Given the description of an element on the screen output the (x, y) to click on. 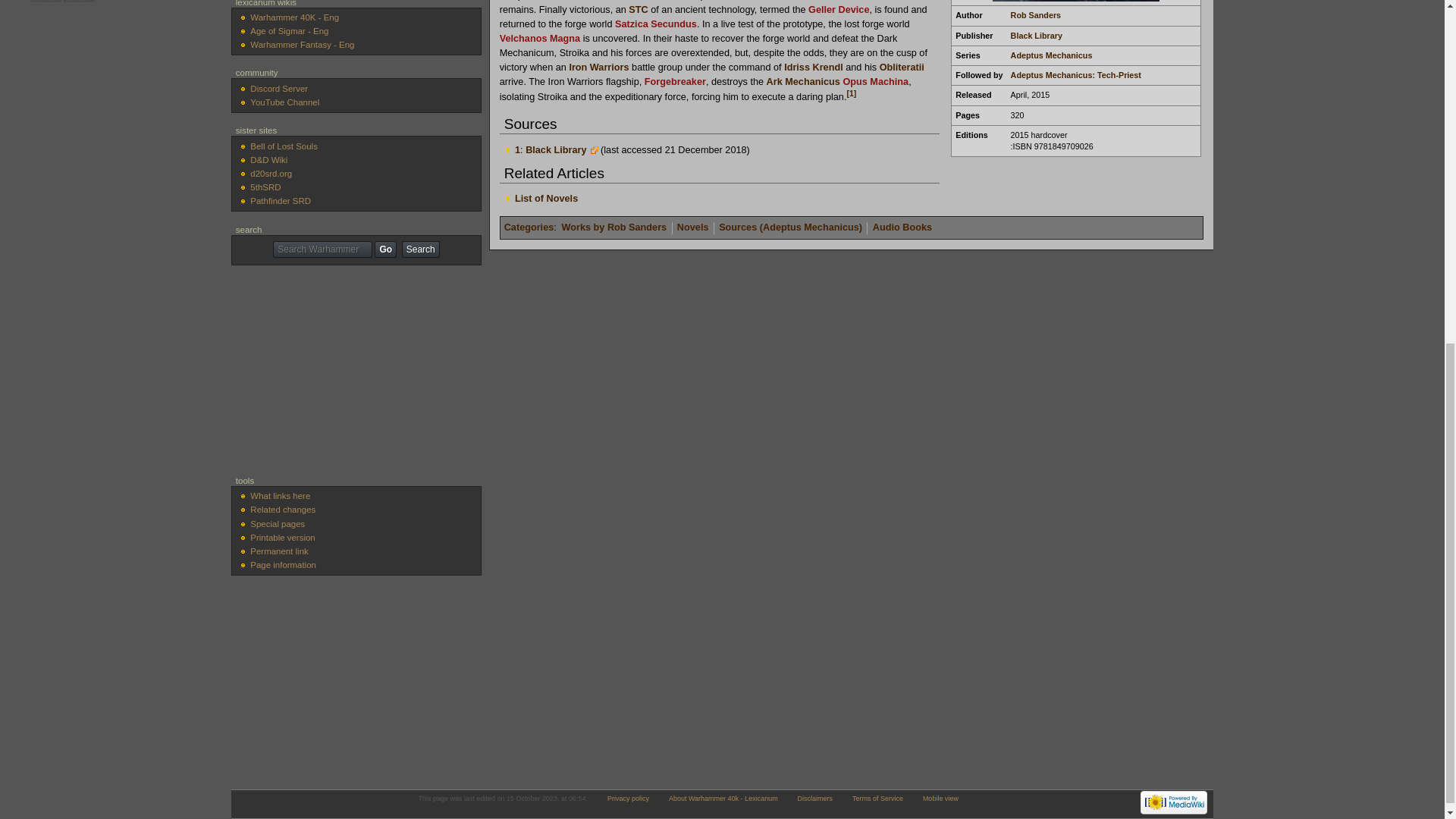
Go (385, 248)
STC (637, 9)
Idriss Krendl (813, 67)
Search (420, 248)
Ark Mechanicus (803, 81)
Iron Warriors (598, 67)
Velchanos Magna (539, 38)
Satzica Secundus (655, 23)
Opus Machina (875, 81)
Obliteratii (901, 67)
